Given the description of an element on the screen output the (x, y) to click on. 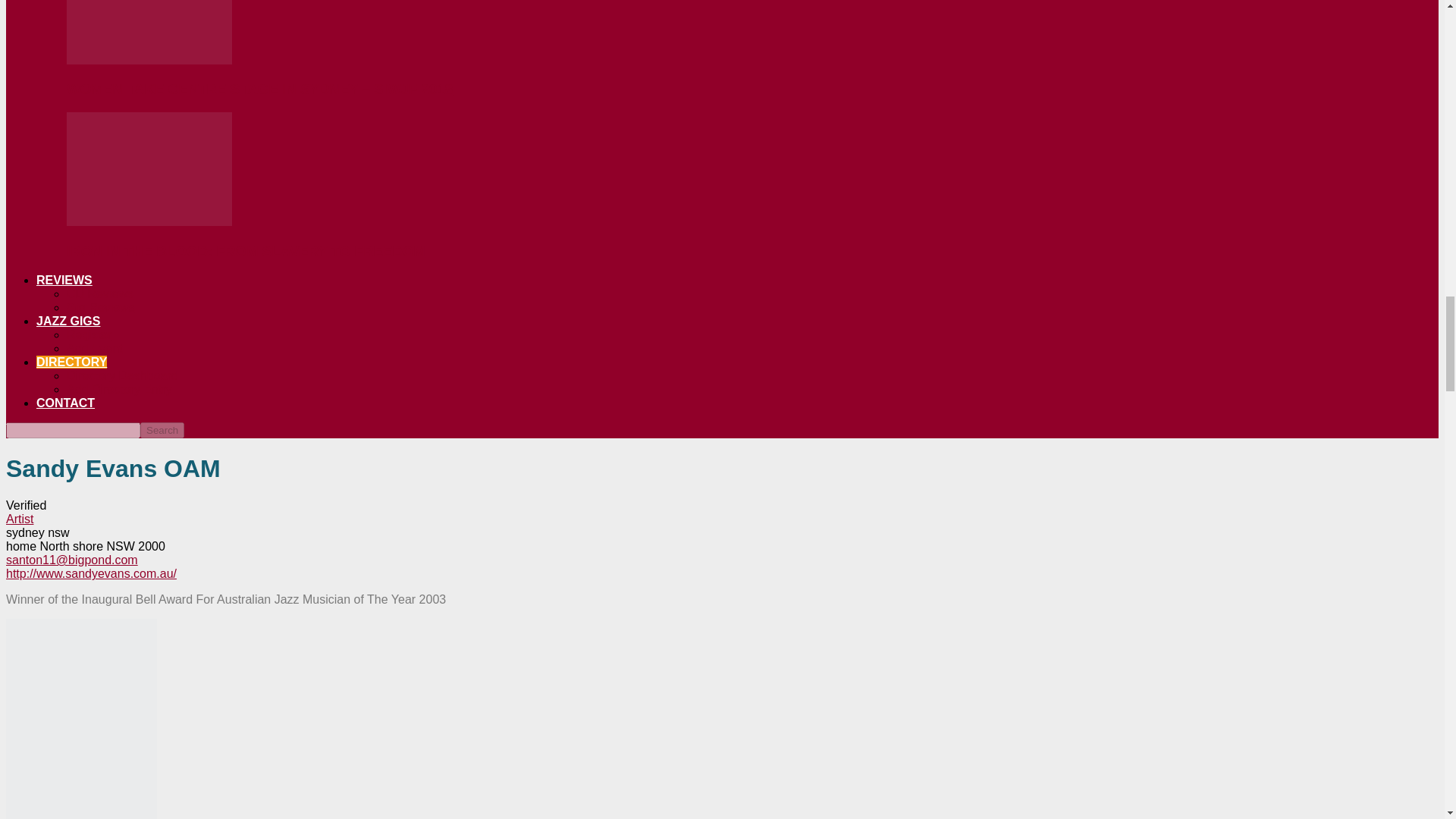
Search (161, 430)
